Given the description of an element on the screen output the (x, y) to click on. 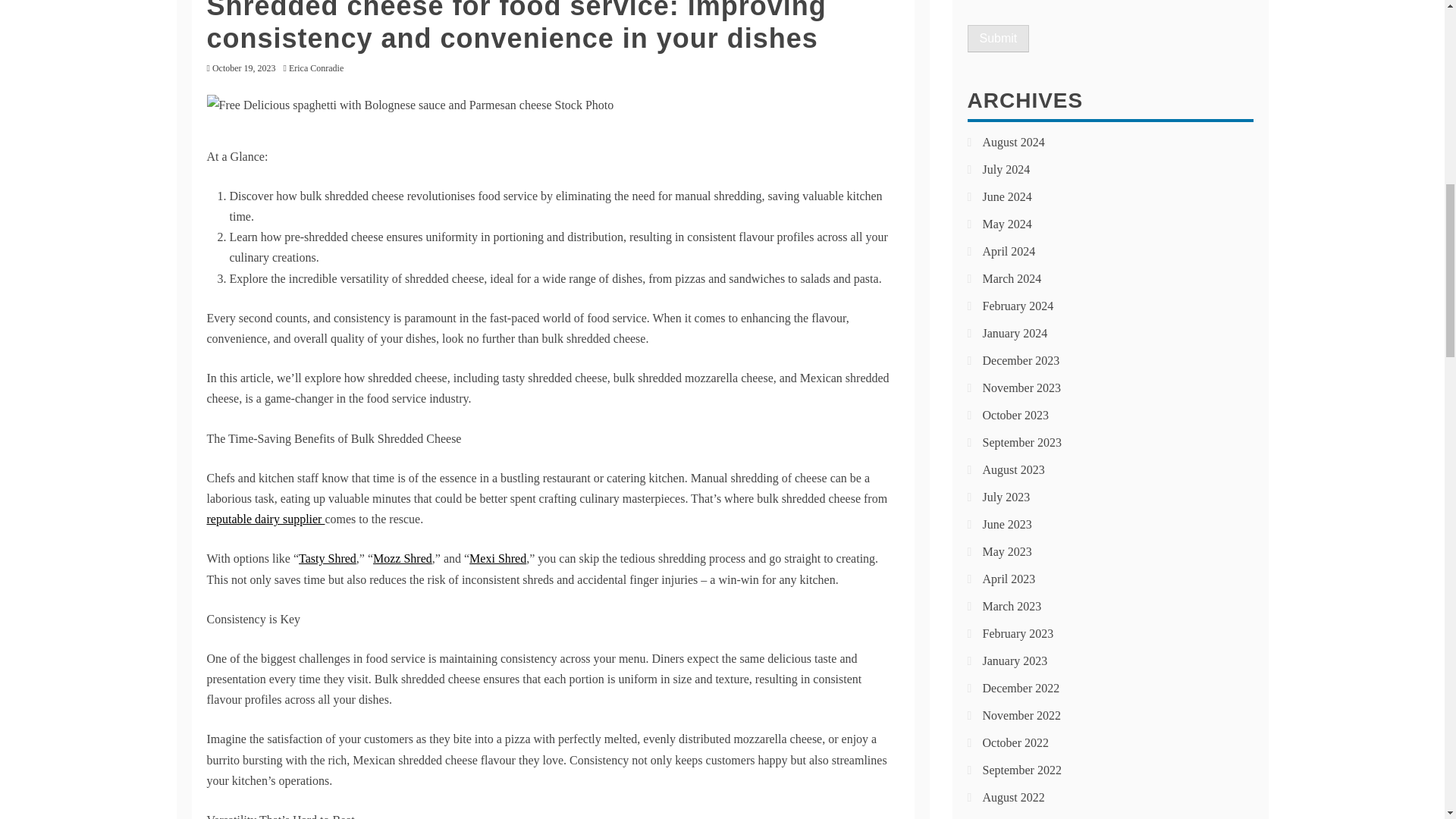
Submit (998, 38)
Mozz Shred (402, 558)
Mexi Shred (496, 558)
October 19, 2023 (244, 68)
Tasty Shred (327, 558)
reputable dairy supplier (265, 518)
Erica Conradie (319, 68)
